Given the description of an element on the screen output the (x, y) to click on. 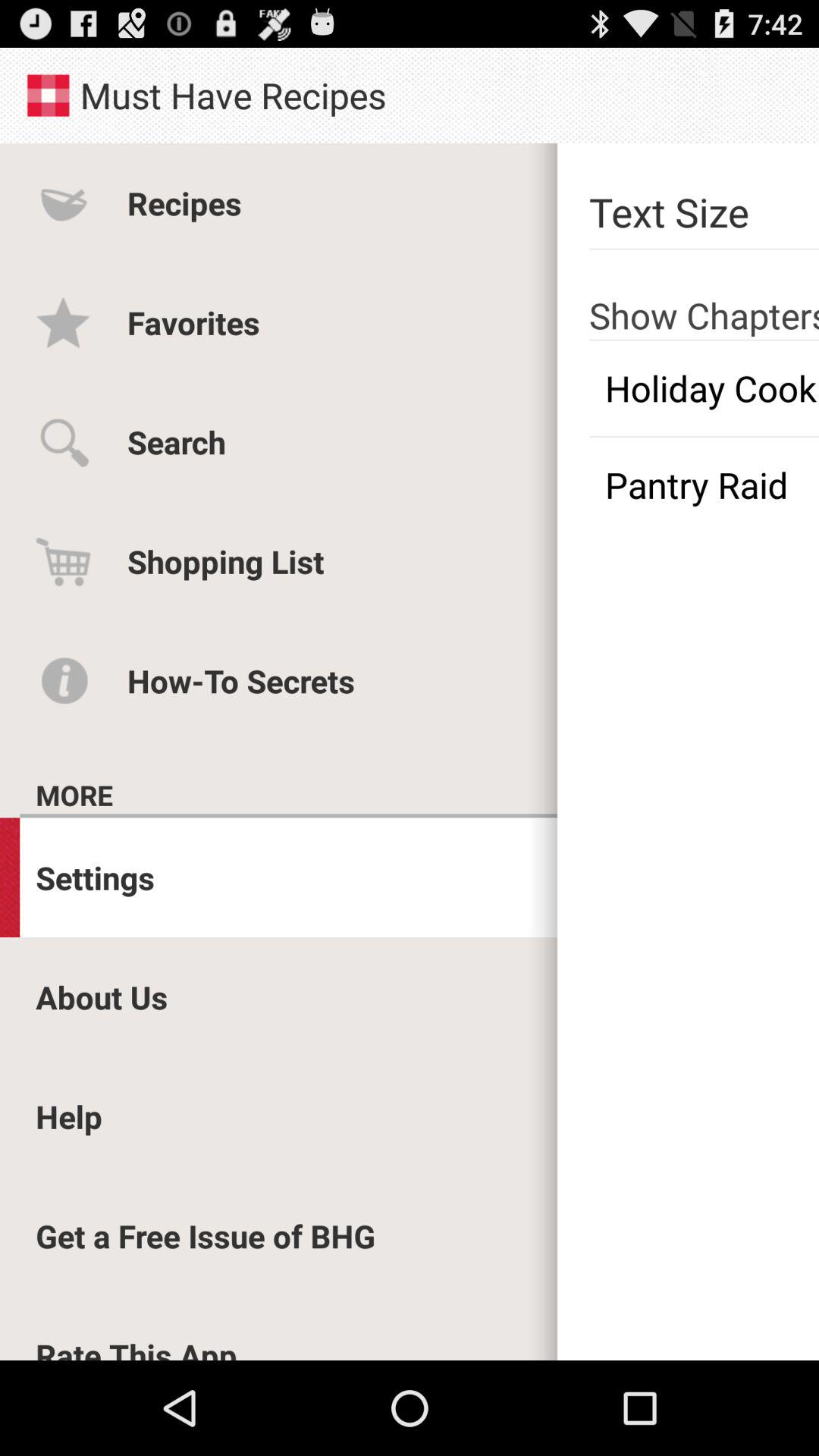
press the app next to the favorites app (704, 388)
